Given the description of an element on the screen output the (x, y) to click on. 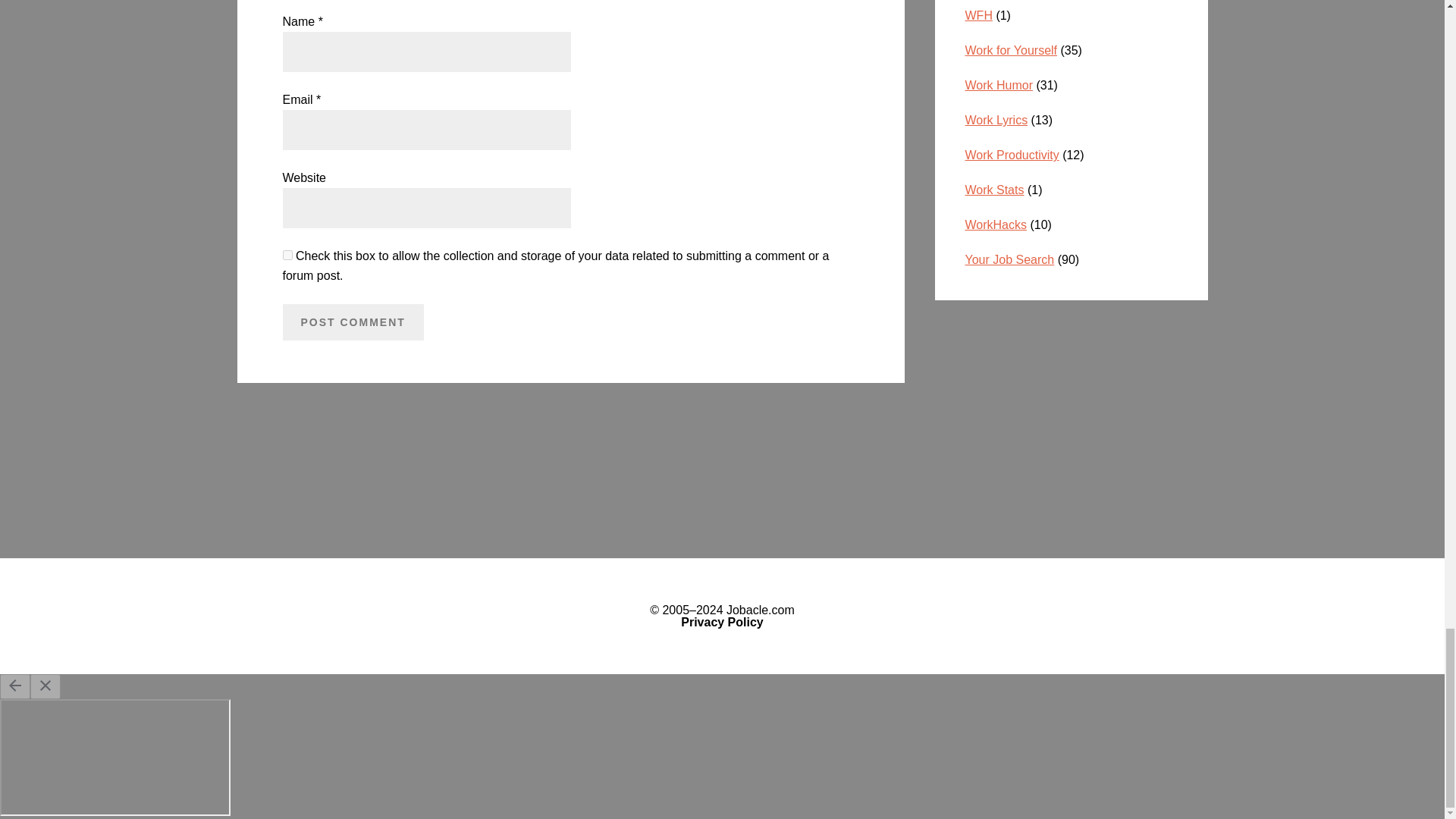
Privacy Policy (721, 621)
Advertisement (1070, 413)
Post Comment (352, 321)
on (287, 255)
Post Comment (352, 321)
